Given the description of an element on the screen output the (x, y) to click on. 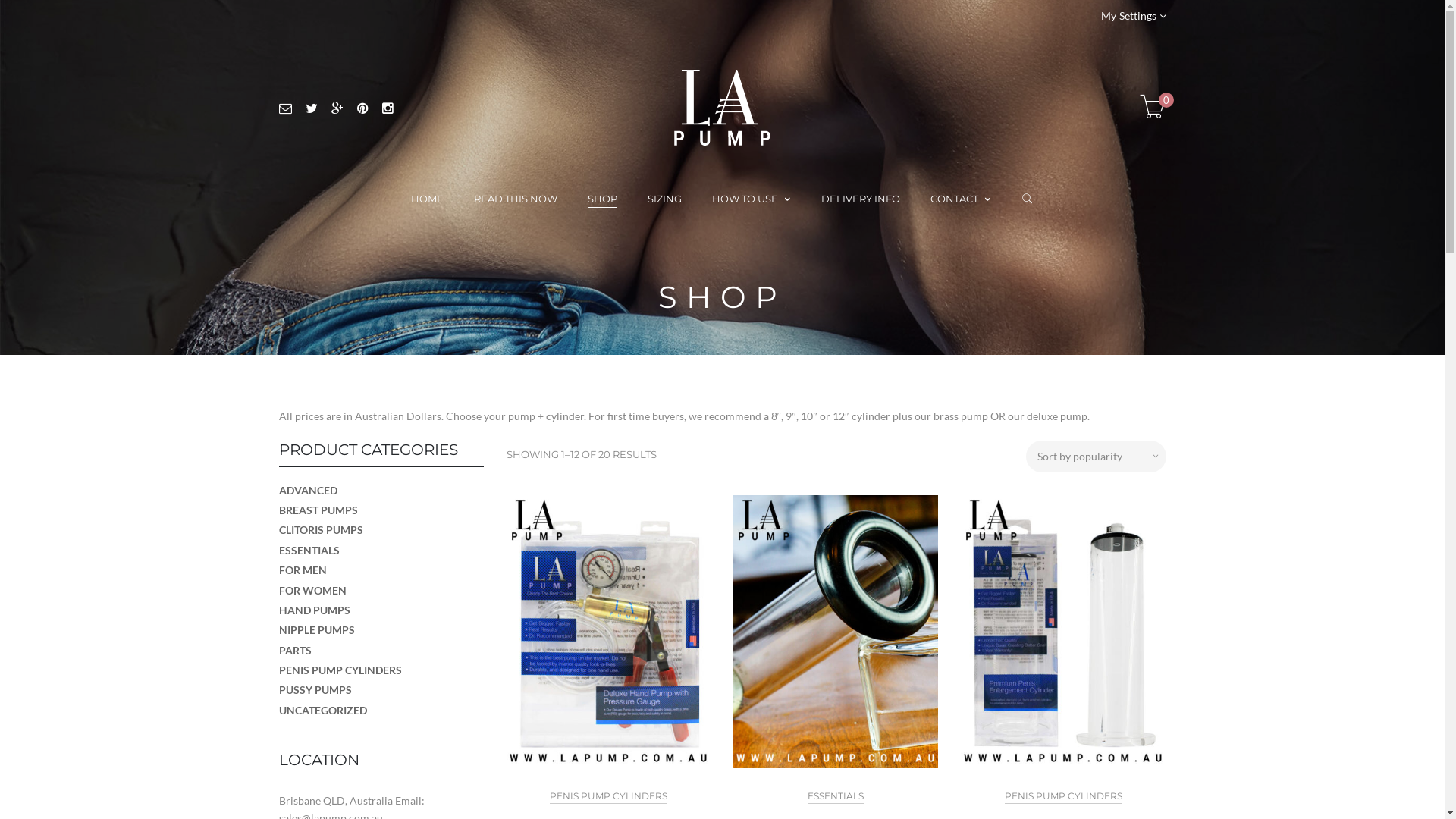
CONTACT Element type: text (960, 198)
DELIVERY INFO Element type: text (860, 198)
Size Matters Element type: text (762, 591)
deluxe pump Element type: text (1056, 415)
FOR MEN Element type: text (302, 569)
Shop Element type: text (745, 638)
SIZING Element type: text (664, 198)
ESSENTIALS Element type: text (835, 795)
ADVANCED Element type: text (308, 489)
Terms & Conditions Element type: text (325, 638)
Privacy Policy Element type: text (312, 685)
HAND PUMPS Element type: text (314, 609)
ESSENTIALS Element type: text (309, 549)
READ THIS NOW Element type: text (515, 198)
brass pump Element type: text (960, 415)
PENIS PUMP CYLINDERS Element type: text (340, 669)
NIPPLE PUMPS Element type: text (316, 629)
BREAST PUMPS Element type: text (318, 509)
PARTS Element type: text (295, 649)
PENIS PUMP CYLINDERS Element type: text (1063, 795)
CLITORIS PUMPS Element type: text (321, 529)
PUSSY PUMPS Element type: text (315, 689)
Returns & Refunds Element type: text (323, 661)
HOME Element type: text (427, 198)
Home Element type: text (293, 591)
How To Use Element type: text (762, 614)
UNCATEGORIZED Element type: text (323, 709)
SHOP Element type: text (602, 198)
My Account Element type: text (762, 661)
FOR WOMEN Element type: text (312, 589)
PENIS PUMP CYLINDERS Element type: text (608, 795)
Delivery Information Element type: text (328, 614)
Resellers Element type: text (755, 685)
HOW TO USE Element type: text (751, 198)
